Given the description of an element on the screen output the (x, y) to click on. 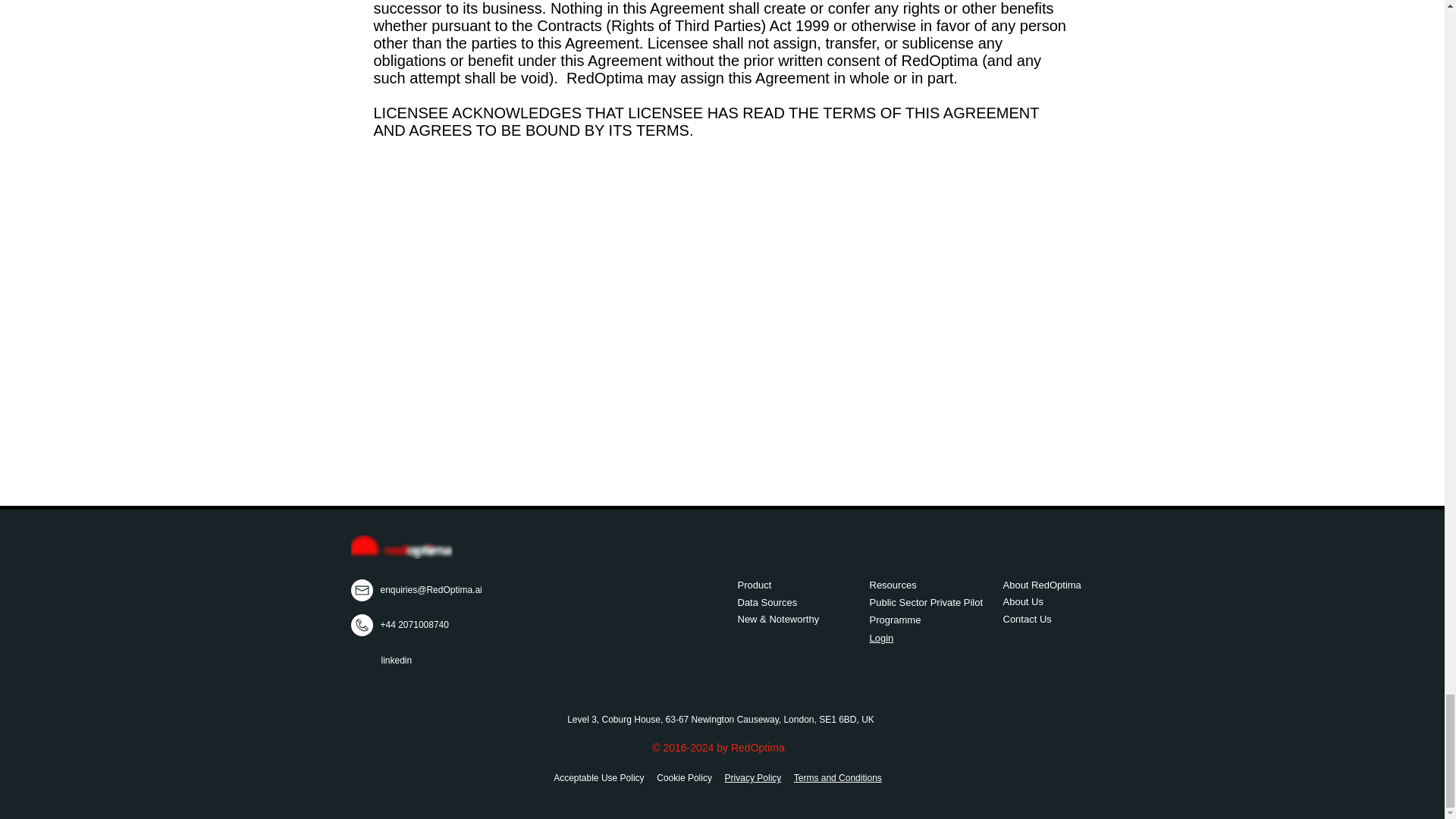
Login (881, 637)
Data Sources (766, 602)
Public Sector Private Pilot Programme (925, 611)
Contact Us (1027, 618)
About Us (1022, 601)
Privacy Policy (753, 777)
Terms and Conditions (837, 777)
linkedin (396, 660)
